Given the description of an element on the screen output the (x, y) to click on. 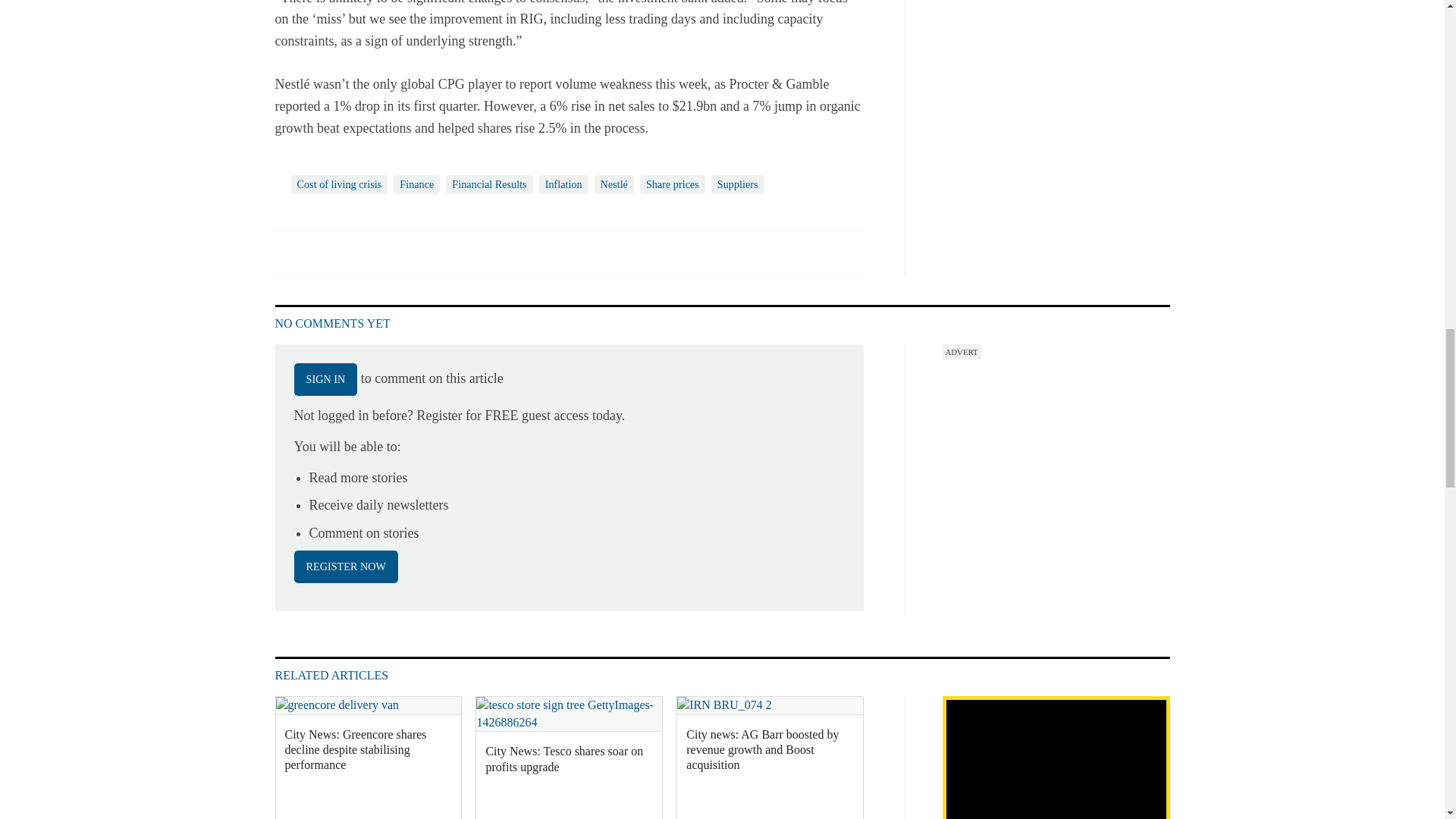
Share this on Twitter (320, 252)
Email this article (386, 252)
Share this on Facebook (288, 252)
Share this on Linked in (352, 252)
No comments (840, 261)
